Given the description of an element on the screen output the (x, y) to click on. 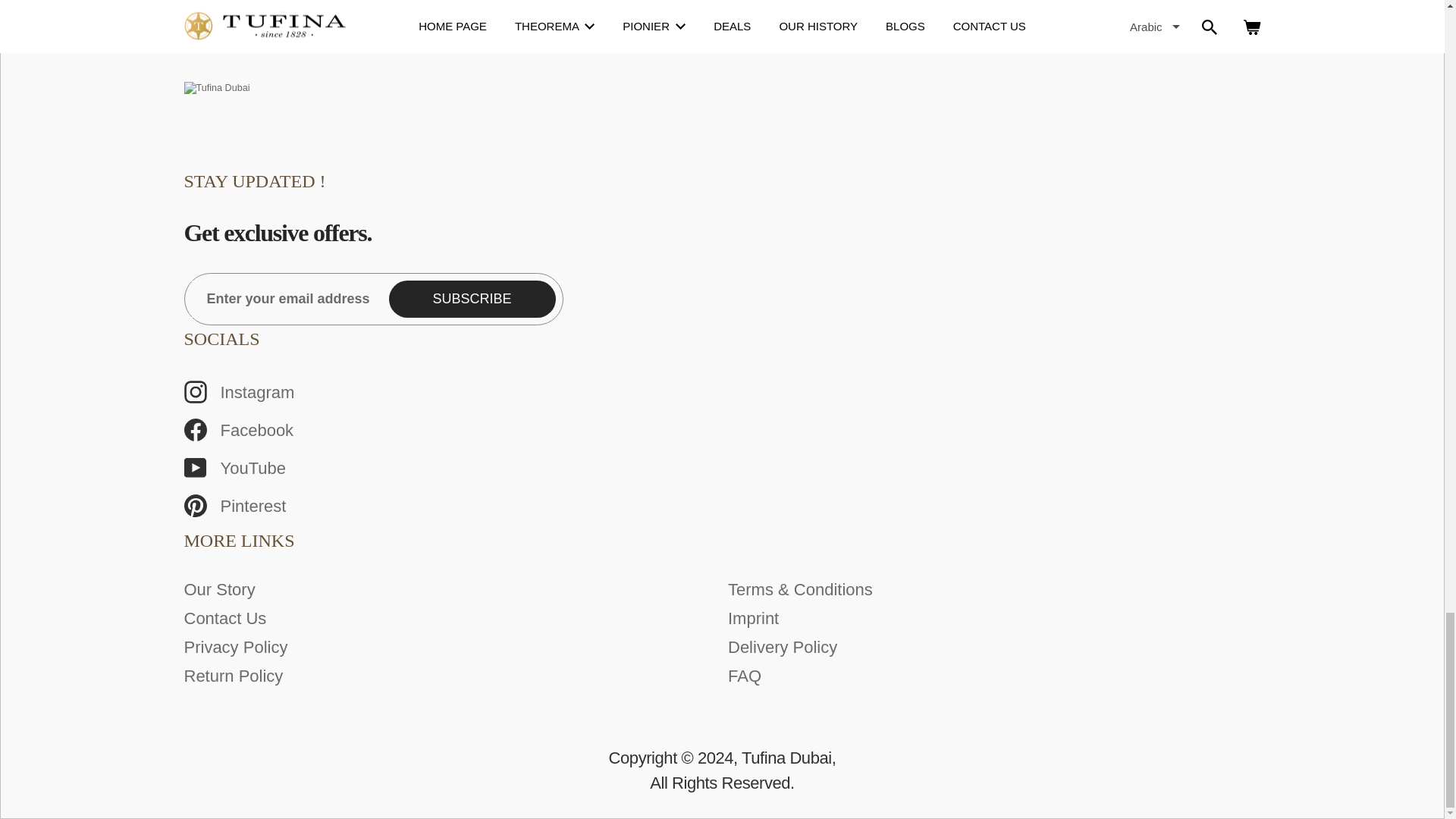
Tufina Dubai on Facebook (716, 430)
Tufina Dubai on Instagram (716, 392)
Tufina Dubai on Pinterest (716, 505)
Tufina Dubai on YouTube (716, 468)
